Given the description of an element on the screen output the (x, y) to click on. 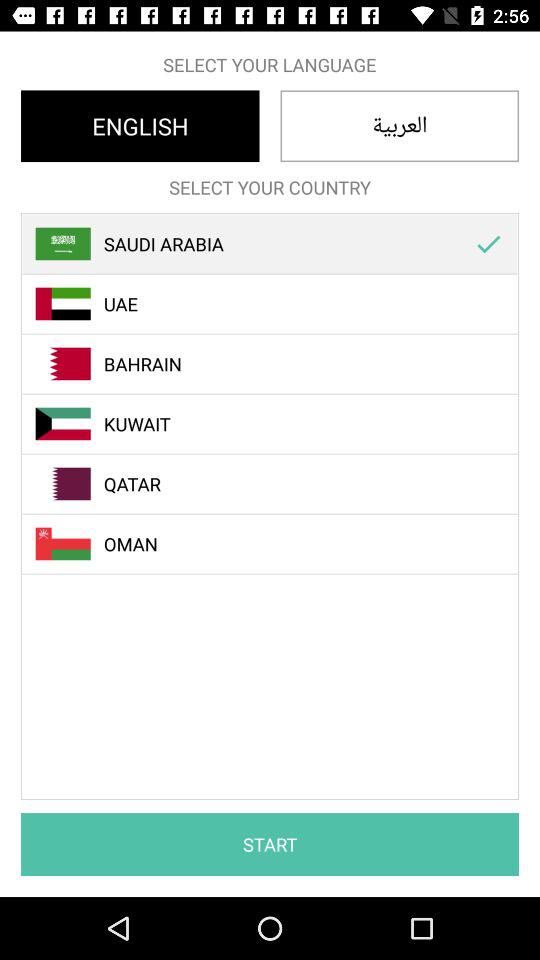
press oman (281, 543)
